Given the description of an element on the screen output the (x, y) to click on. 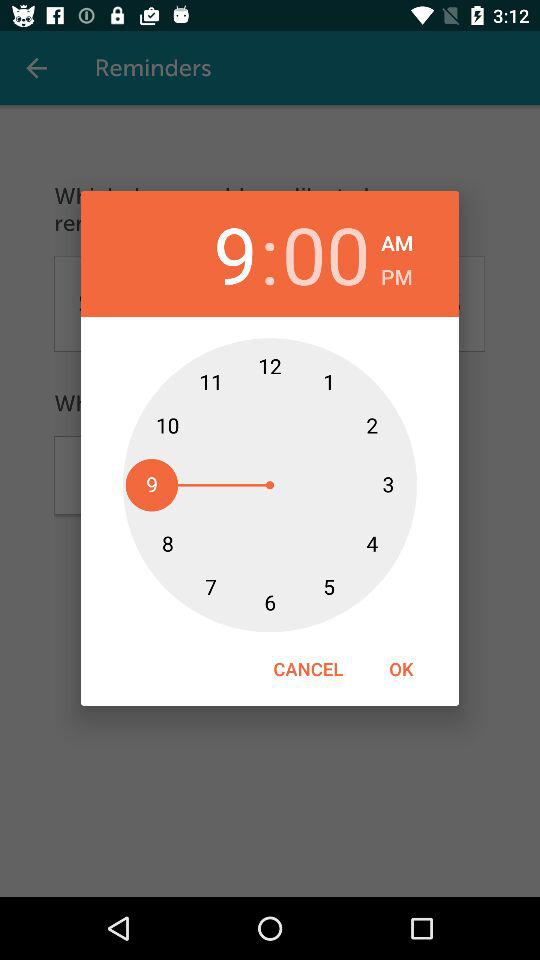
flip to the pm (396, 273)
